Given the description of an element on the screen output the (x, y) to click on. 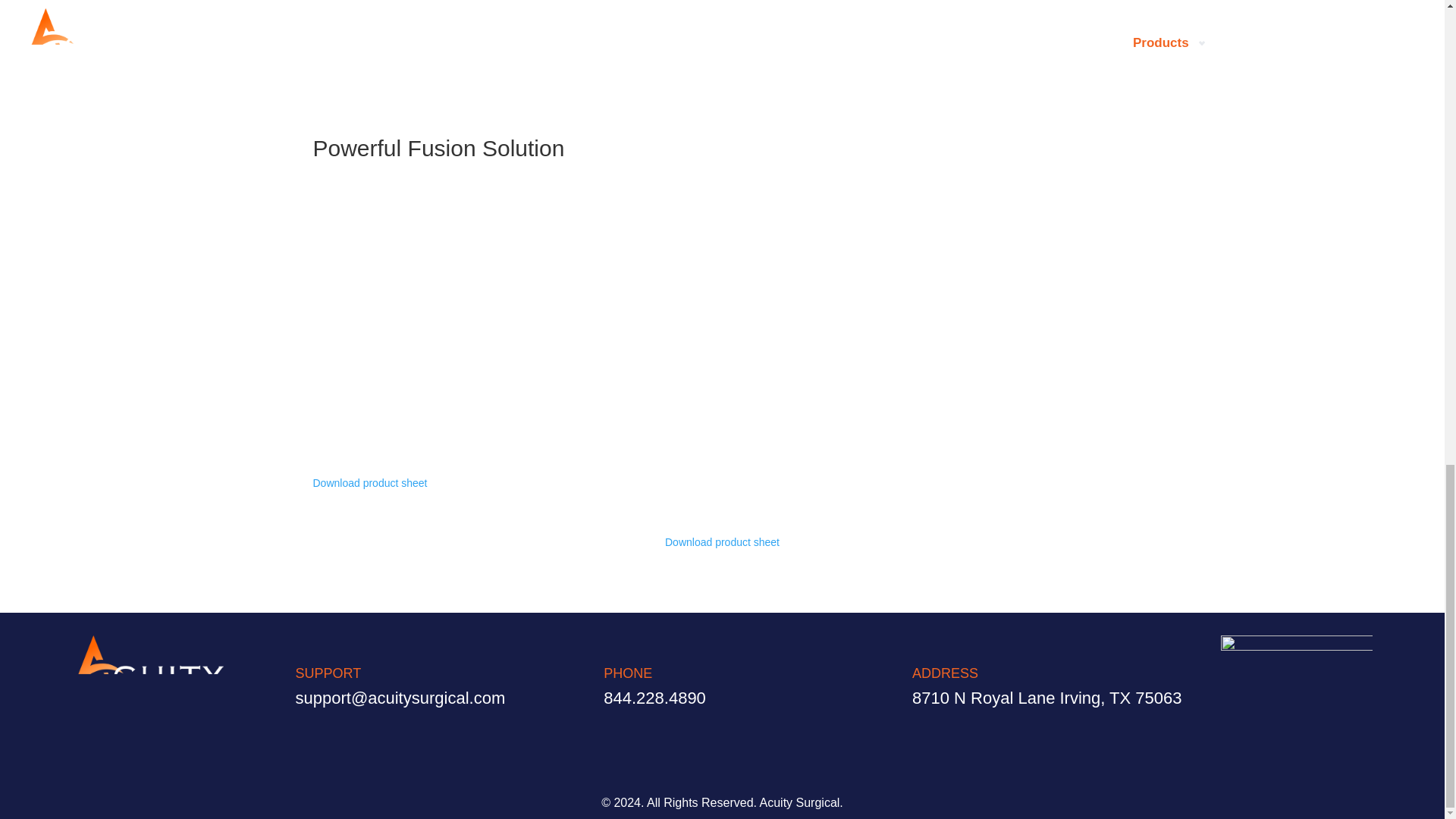
Ventris ALIF-edited (722, 10)
Download product sheet (369, 482)
Download product sheet (721, 541)
844.228.4890 (655, 697)
